Given the description of an element on the screen output the (x, y) to click on. 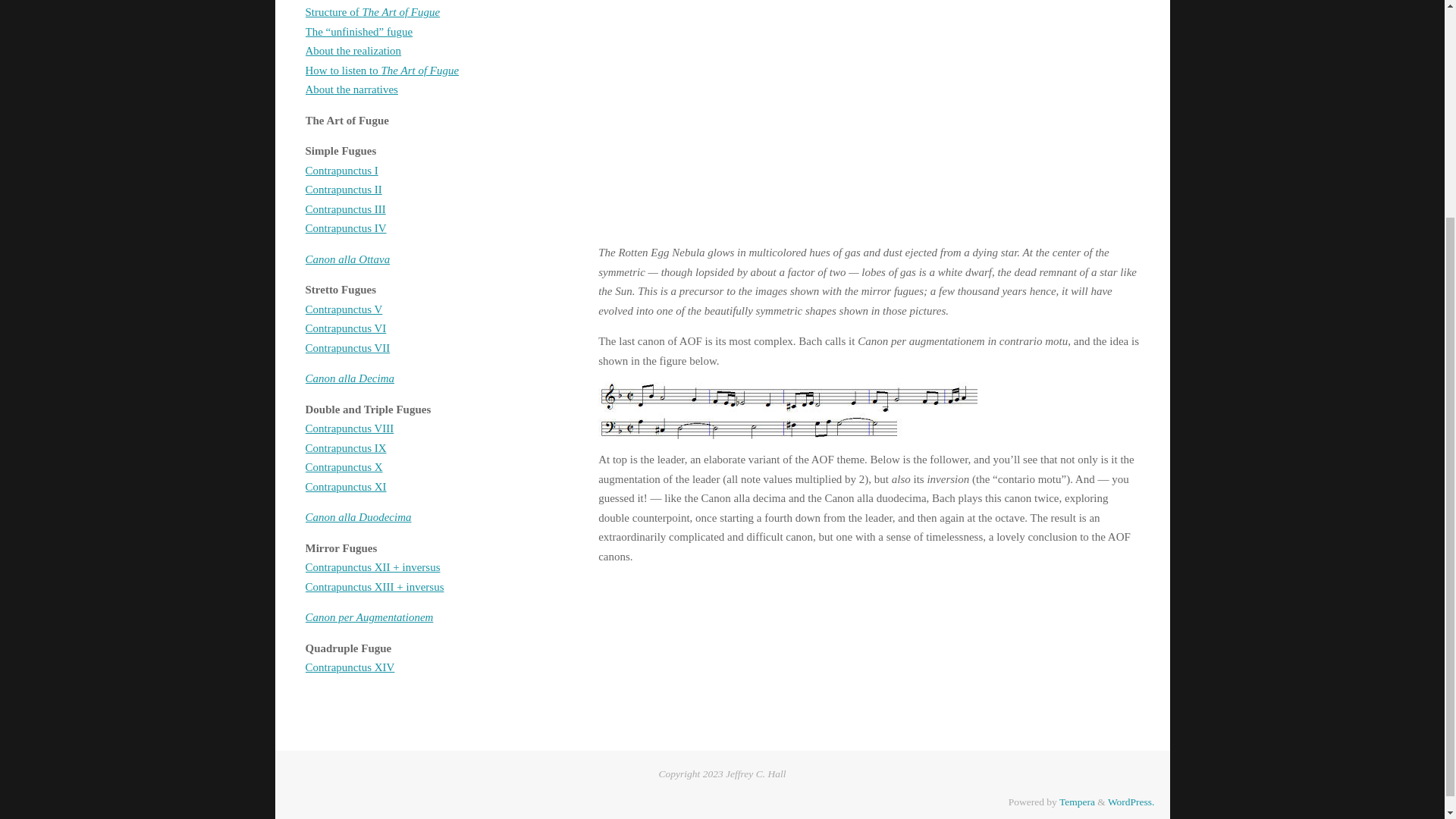
Canon per Augmentationem (868, 118)
Tempera Theme by Cryout Creations (1076, 801)
Semantic Personal Publishing Platform (1131, 801)
